Given the description of an element on the screen output the (x, y) to click on. 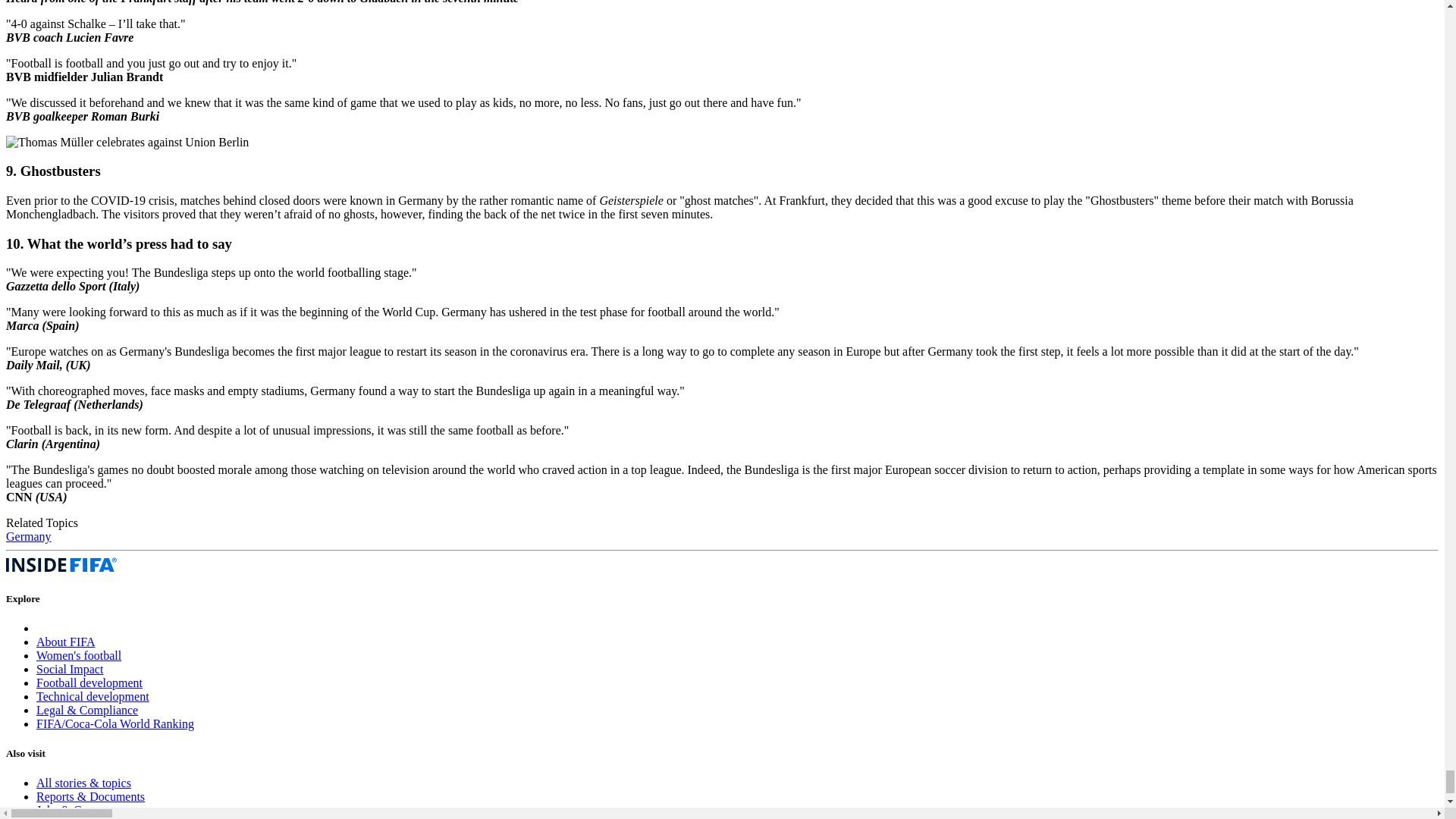
Social Impact (69, 668)
Germany (27, 535)
Technical development (92, 696)
About FIFA (66, 641)
Women's football (78, 655)
Contact FIFA (68, 818)
Football development (89, 682)
